Given the description of an element on the screen output the (x, y) to click on. 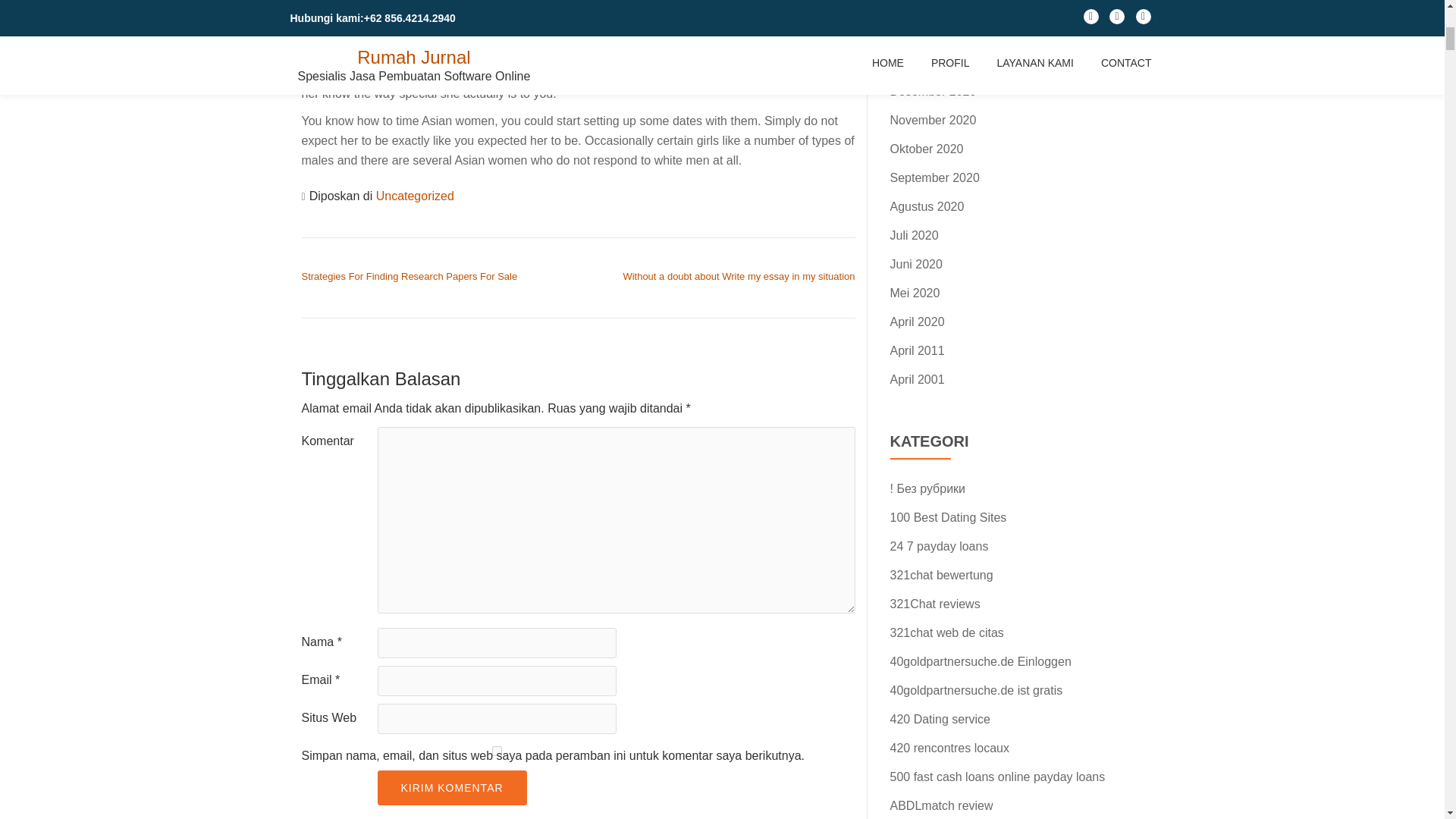
Uncategorized (414, 195)
Kirim Komentar (452, 787)
Strategies For Finding Research Papers For Sale (409, 276)
Kirim Komentar (452, 787)
Without a doubt about Write my essay in my situation (738, 276)
yes (496, 750)
